Given the description of an element on the screen output the (x, y) to click on. 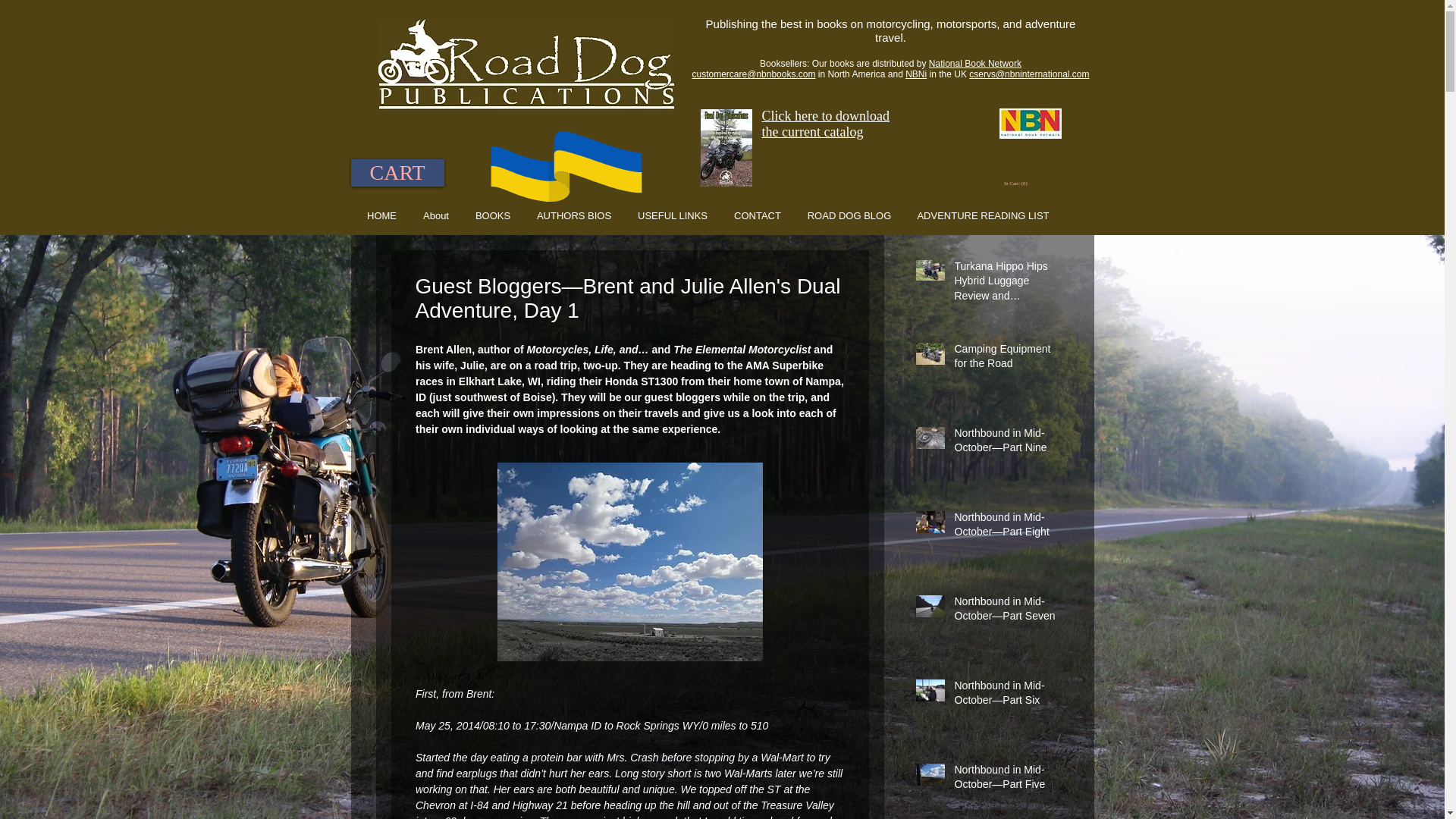
ROAD DOG BLOG (849, 215)
BOOKS (493, 215)
CONTACT (756, 215)
About (435, 215)
Click here to download the current catalog (824, 123)
Camping Equipment for the Road (1007, 359)
NBNi (915, 73)
USEFUL LINKS (672, 215)
CART (397, 172)
NBNLogo2.jpg (1029, 123)
HOME (381, 215)
AUTHORS BIOS (573, 215)
ADVENTURE READING LIST (982, 215)
National Book Network (975, 63)
Turkana Hippo Hips Hybrid Luggage Review and Comparison (1007, 284)
